Given the description of an element on the screen output the (x, y) to click on. 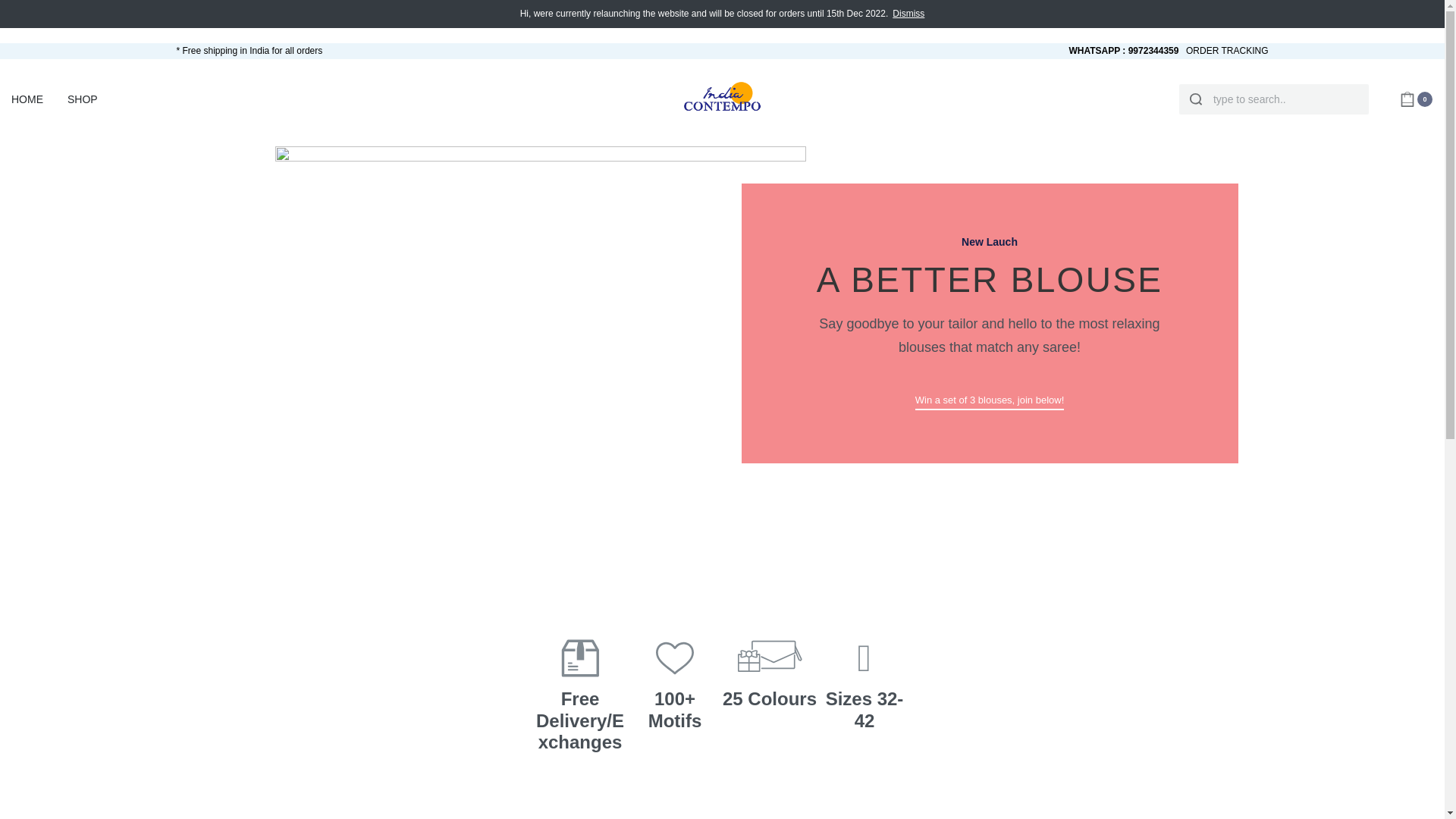
Dismiss (908, 13)
SHOP (86, 99)
0 (1415, 98)
HOME (27, 99)
ORDER TRACKING (1227, 50)
Win a set of 3 blouses, join below! (989, 402)
WHATSAPP : 9972344359 (1122, 50)
